Given the description of an element on the screen output the (x, y) to click on. 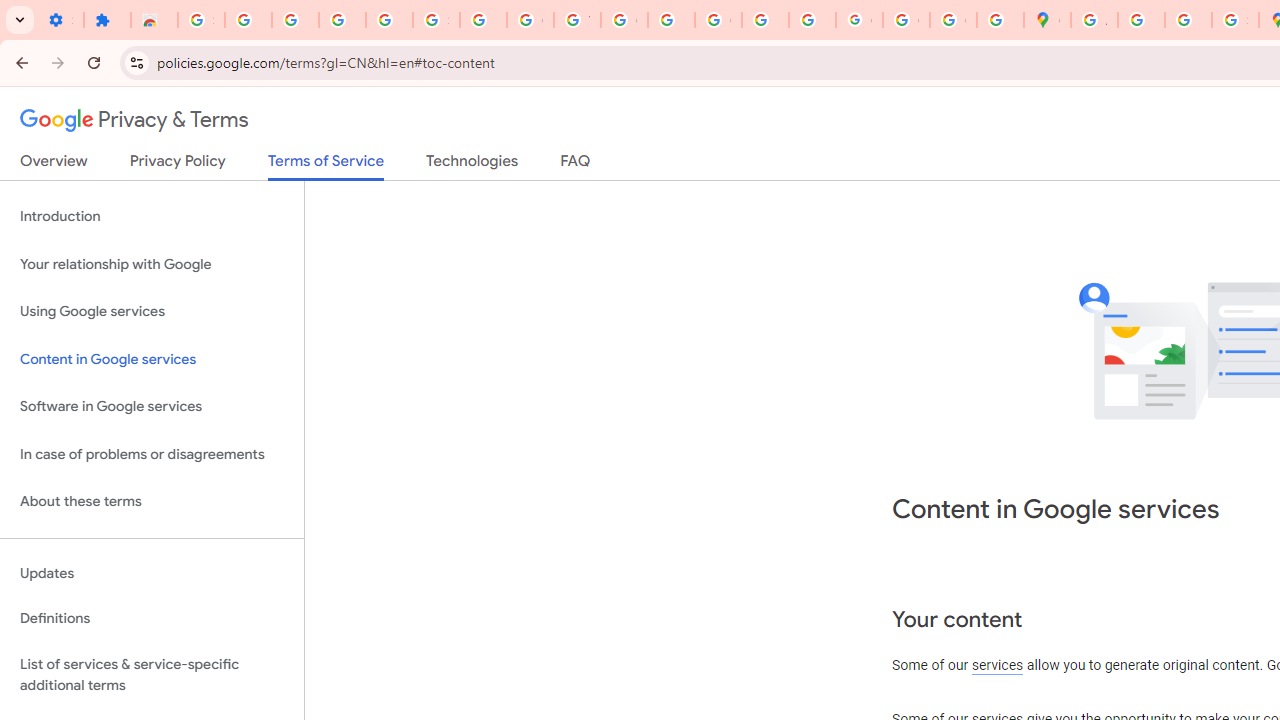
YouTube (577, 20)
Sign in - Google Accounts (436, 20)
services (997, 666)
Settings - On startup (60, 20)
Google Maps (1047, 20)
https://scholar.google.com/ (671, 20)
About these terms (152, 502)
Using Google services (152, 312)
